Given the description of an element on the screen output the (x, y) to click on. 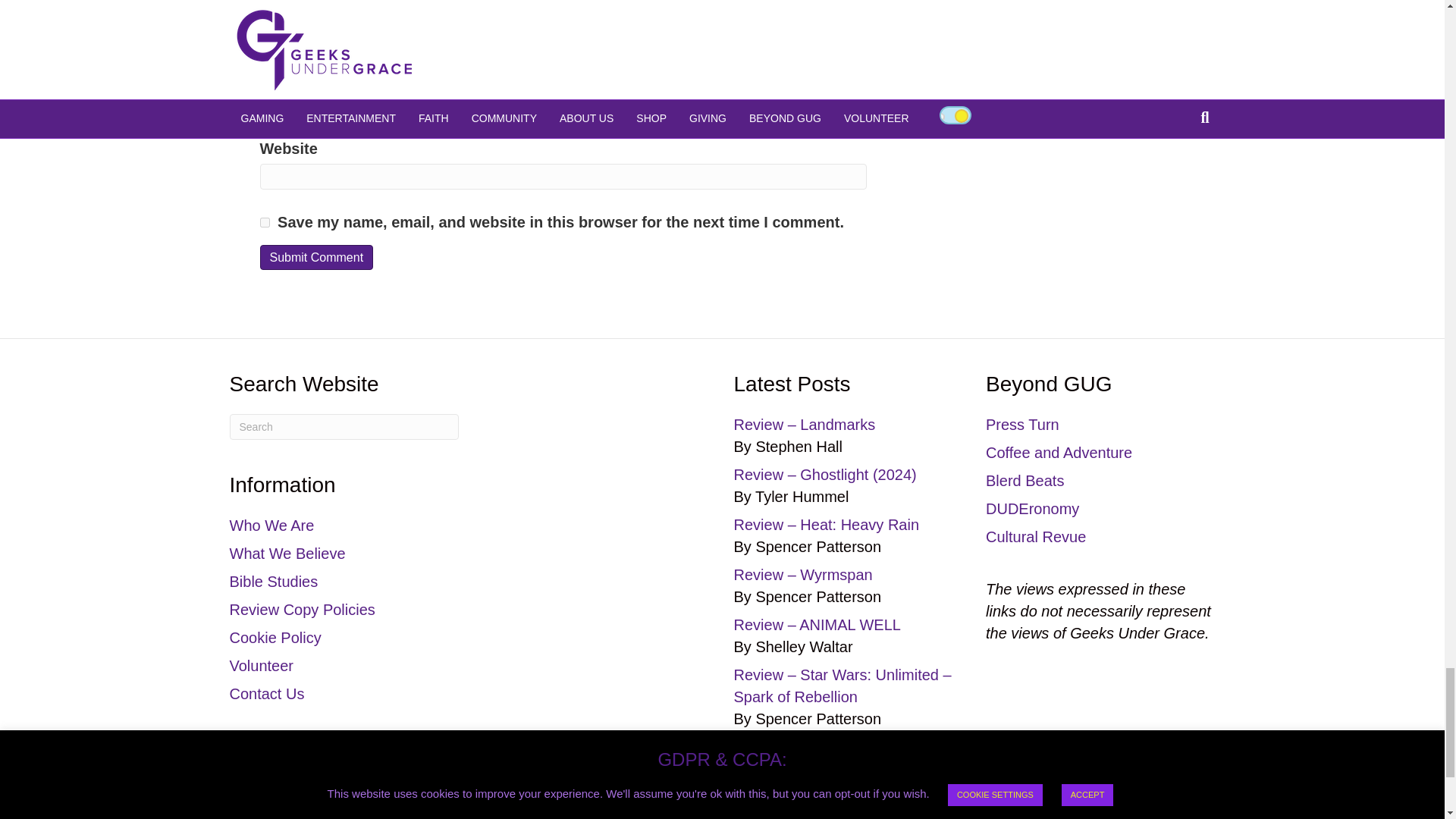
yes (264, 222)
Type and press Enter to search. (343, 426)
Submit Comment (315, 257)
